Given the description of an element on the screen output the (x, y) to click on. 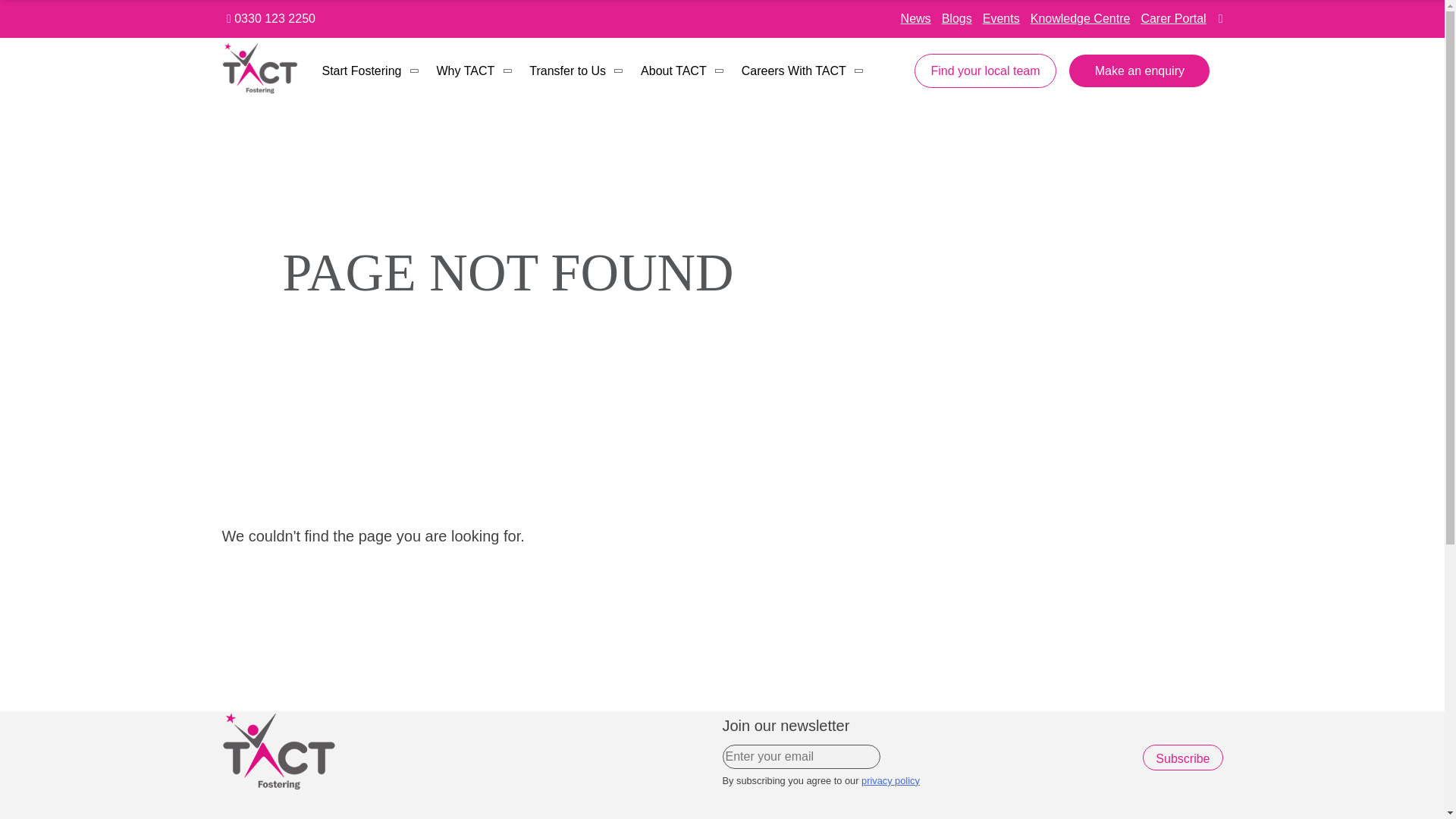
Knowledge Centre (1080, 18)
Blogs (957, 18)
Carer Portal (1172, 18)
Events (1001, 18)
Start Fostering (370, 71)
0330 123 2250 (271, 18)
News (916, 18)
Subscribe (1182, 757)
